Given the description of an element on the screen output the (x, y) to click on. 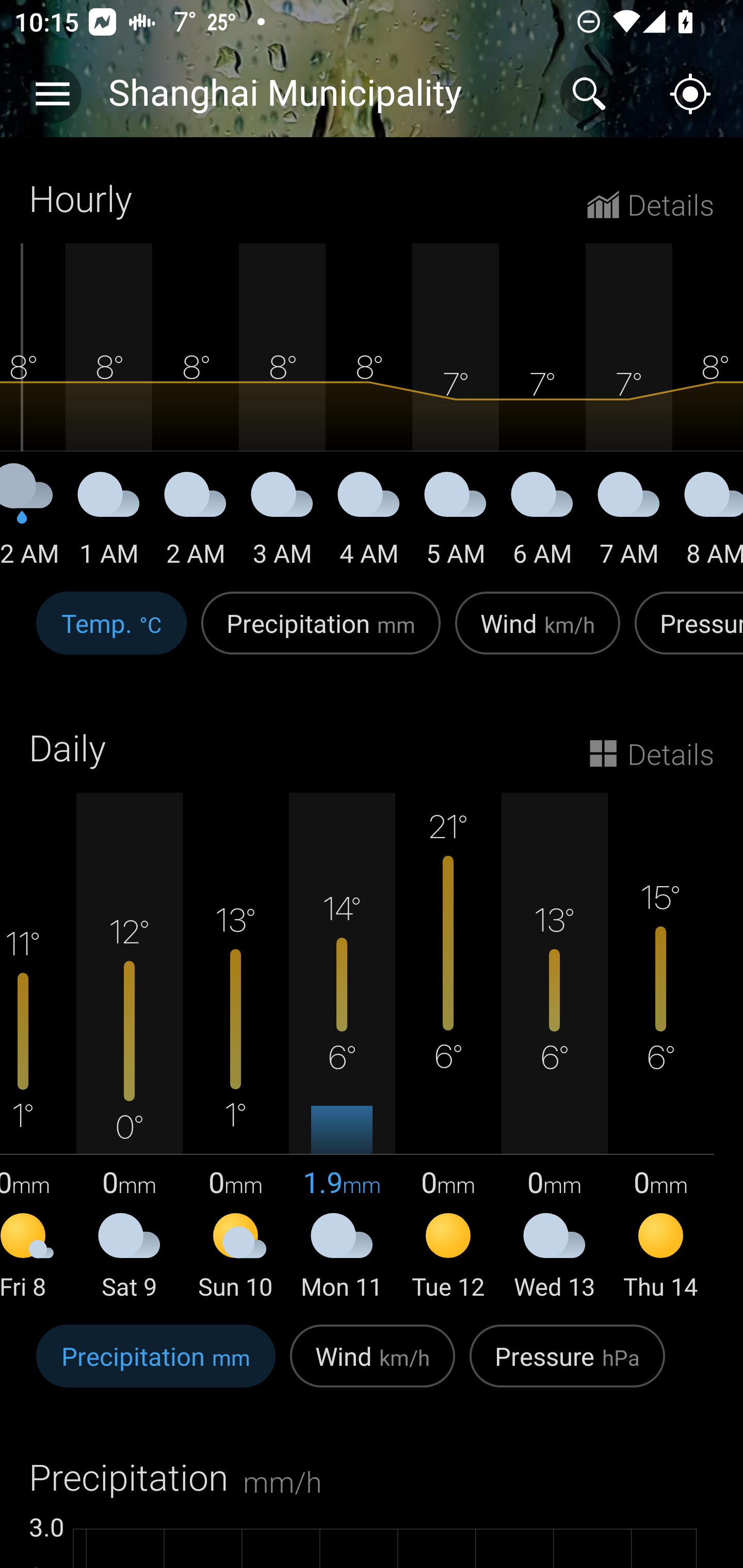
12 AM (32, 521)
1 AM (108, 521)
2 AM (195, 521)
3 AM (282, 521)
4 AM (368, 521)
5 AM (455, 521)
6 AM (542, 521)
7 AM (628, 521)
8 AM (707, 521)
Temp. °C (110, 633)
Precipitation mm (320, 633)
Wind km/h (537, 633)
Pressure (685, 633)
11° 1° 0 mm Fri 8 (38, 1048)
12° 0° 0 mm Sat 9 (129, 1048)
13° 1° 0 mm Sun 10 (235, 1048)
14° 6° 1.9 mm Mon 11 (342, 1048)
21° 6° 0 mm Tue 12 (448, 1048)
13° 6° 0 mm Wed 13 (554, 1048)
15° 6° 0 mm Thu 14 (660, 1048)
Precipitation mm (155, 1366)
Wind km/h (372, 1366)
Pressure hPa (567, 1366)
